Given the description of an element on the screen output the (x, y) to click on. 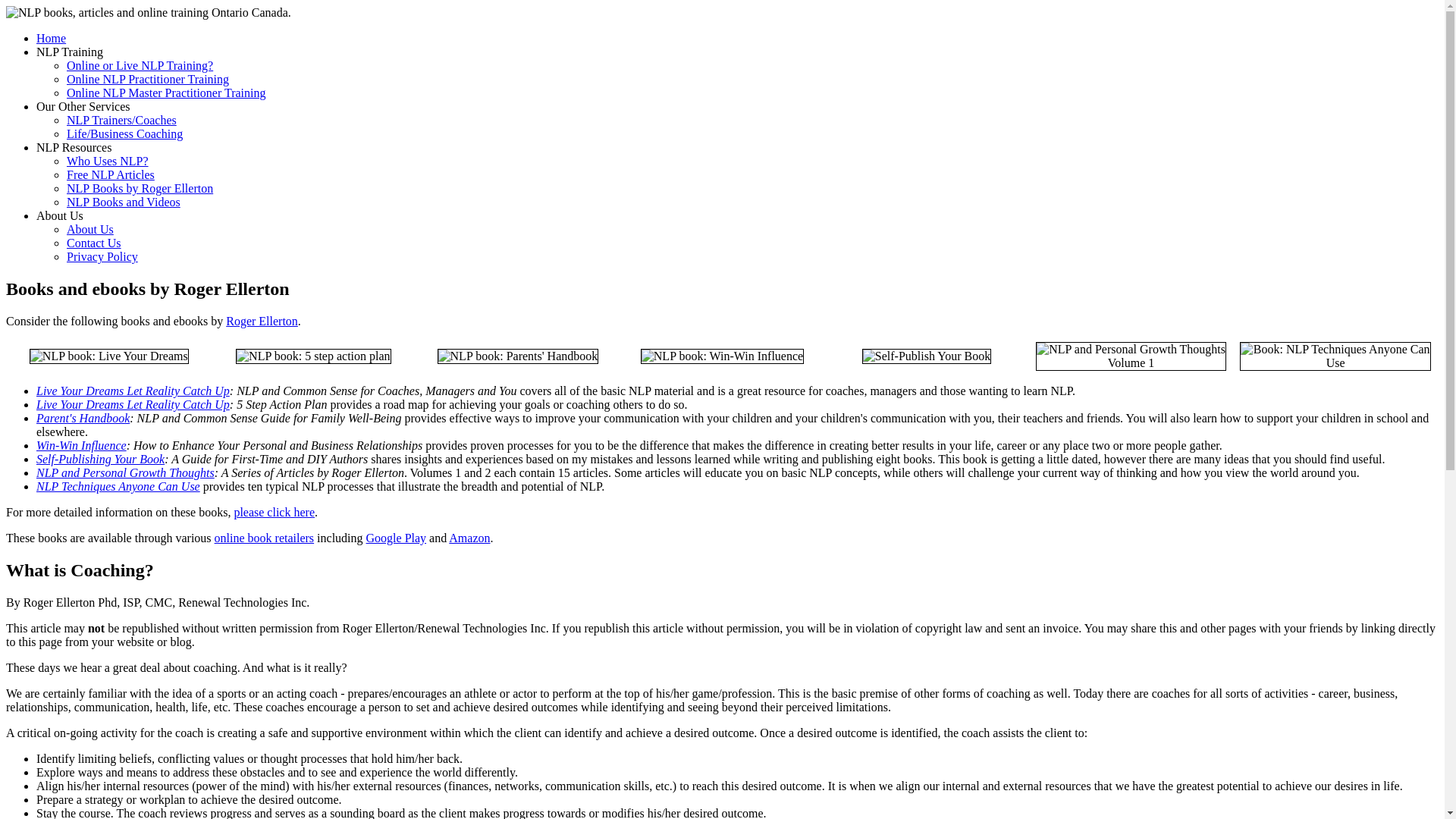
Live Your Dreams Let Reality Catch Up (133, 390)
Free NLP Articles (110, 174)
NLP Techniques Anyone Can Use (118, 486)
Who Uses NLP? (107, 160)
Contact Us (93, 242)
Online NLP Master Practitioner Training (166, 92)
Win-Win Influence (81, 445)
Live Your Dreams Let Reality Catch Up (133, 404)
Online or Live NLP Training? (139, 65)
NLP Thoughts (1131, 356)
neuro linguistic programming training Canada (148, 12)
Online NLP Practitioner Training (147, 78)
Google Play (396, 537)
NLP book achieve your dreams (313, 355)
Best NLP book for beginners (109, 355)
